Given the description of an element on the screen output the (x, y) to click on. 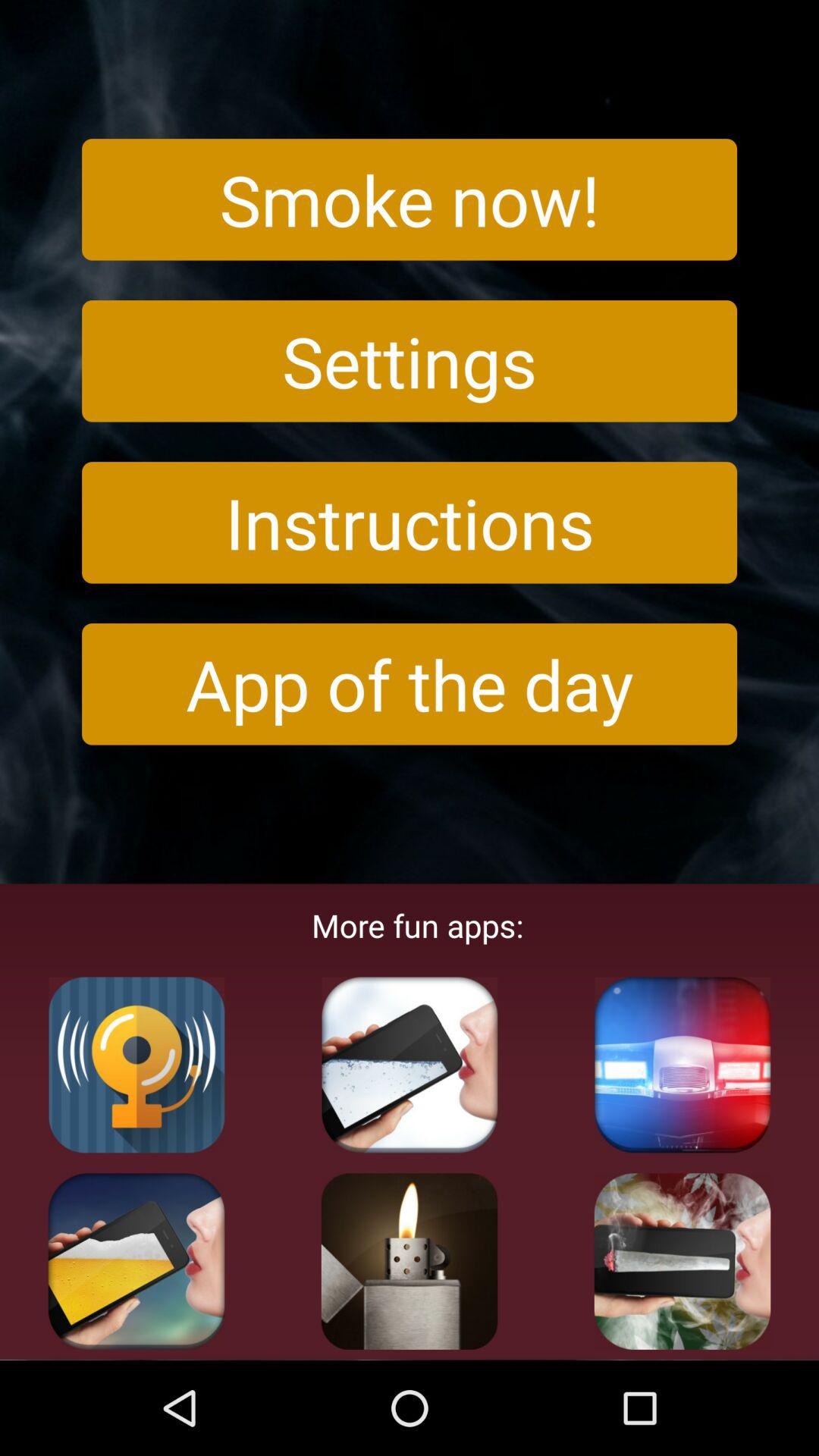
swtich autoplay option (136, 1064)
